Given the description of an element on the screen output the (x, y) to click on. 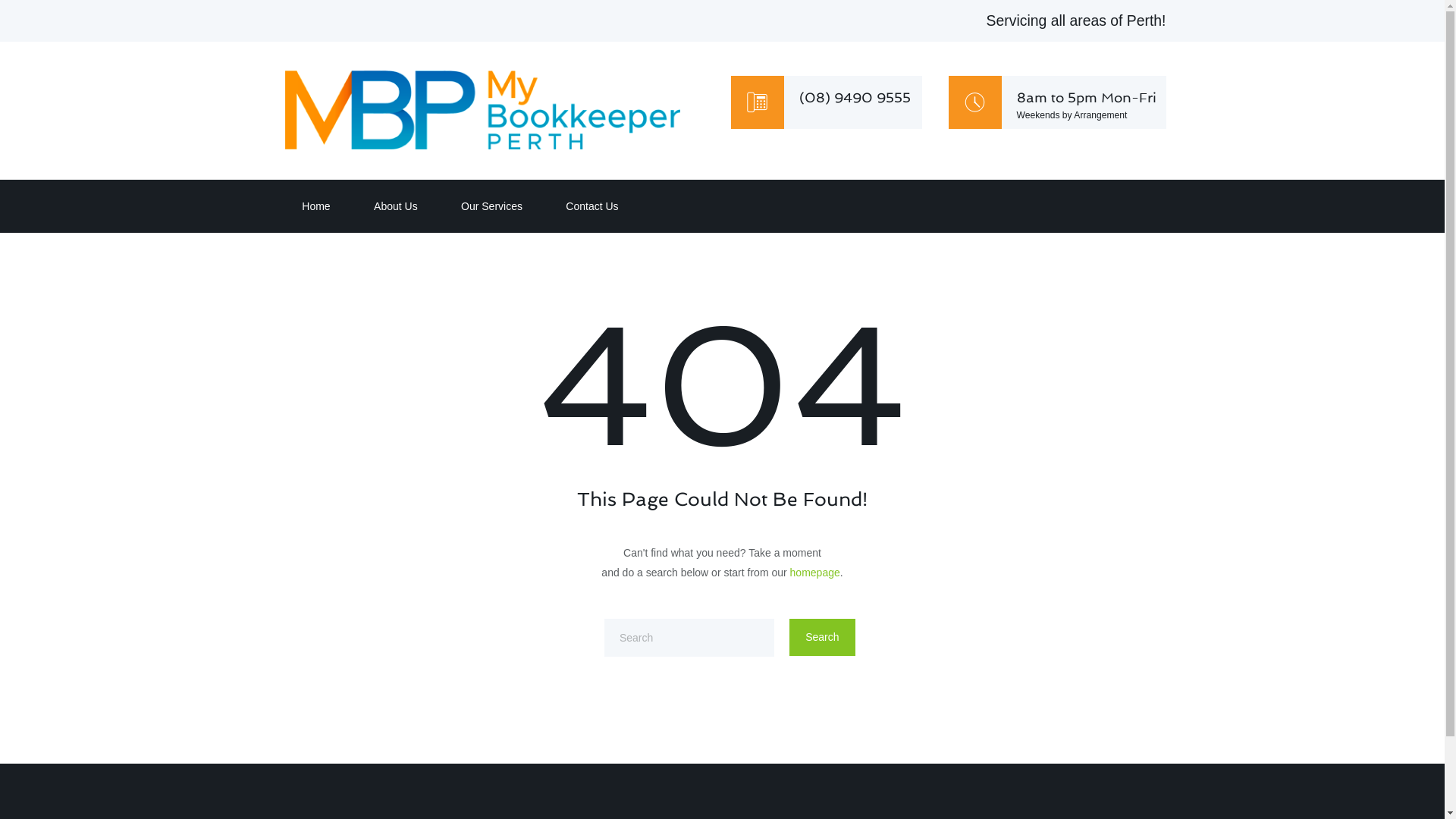
Our Services Element type: text (490, 205)
Contact Us Element type: text (590, 205)
About Us Element type: text (393, 205)
keyword Element type: hover (689, 637)
Home Element type: text (314, 205)
homepage Element type: text (815, 572)
Search Element type: text (821, 636)
   Element type: hover (482, 109)
